Given the description of an element on the screen output the (x, y) to click on. 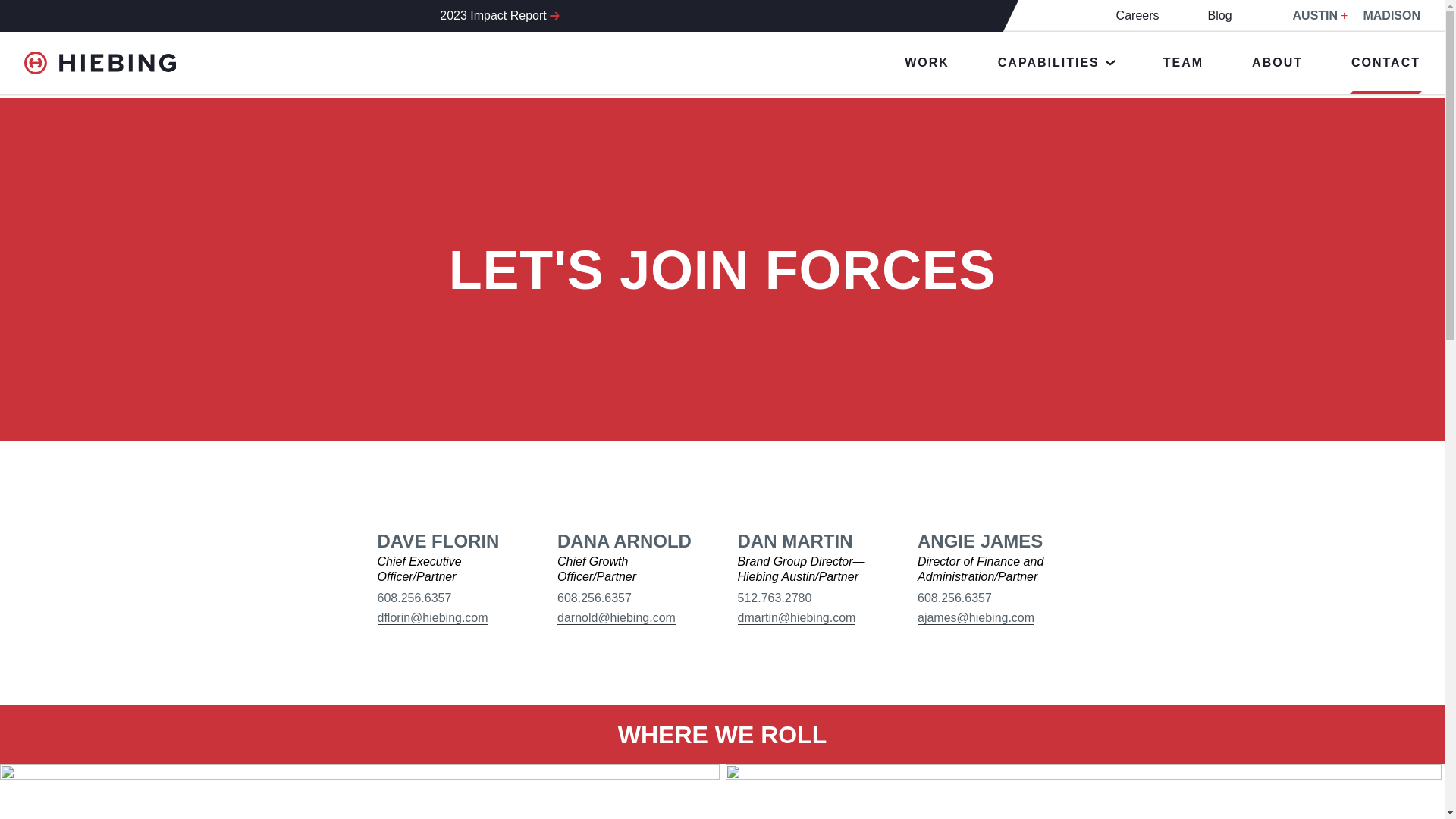
Skip to main content (55, 4)
2023 Impact Report (493, 15)
Careers (1137, 15)
512.763.2780 (773, 598)
CAPABILITIES (1056, 62)
MADISON (1386, 15)
AUSTIN (1309, 15)
608.256.6357 (414, 598)
608.256.6357 (954, 598)
Hiebing (100, 62)
Blog (1219, 15)
608.256.6357 (594, 598)
CONTACT (1386, 62)
